Given the description of an element on the screen output the (x, y) to click on. 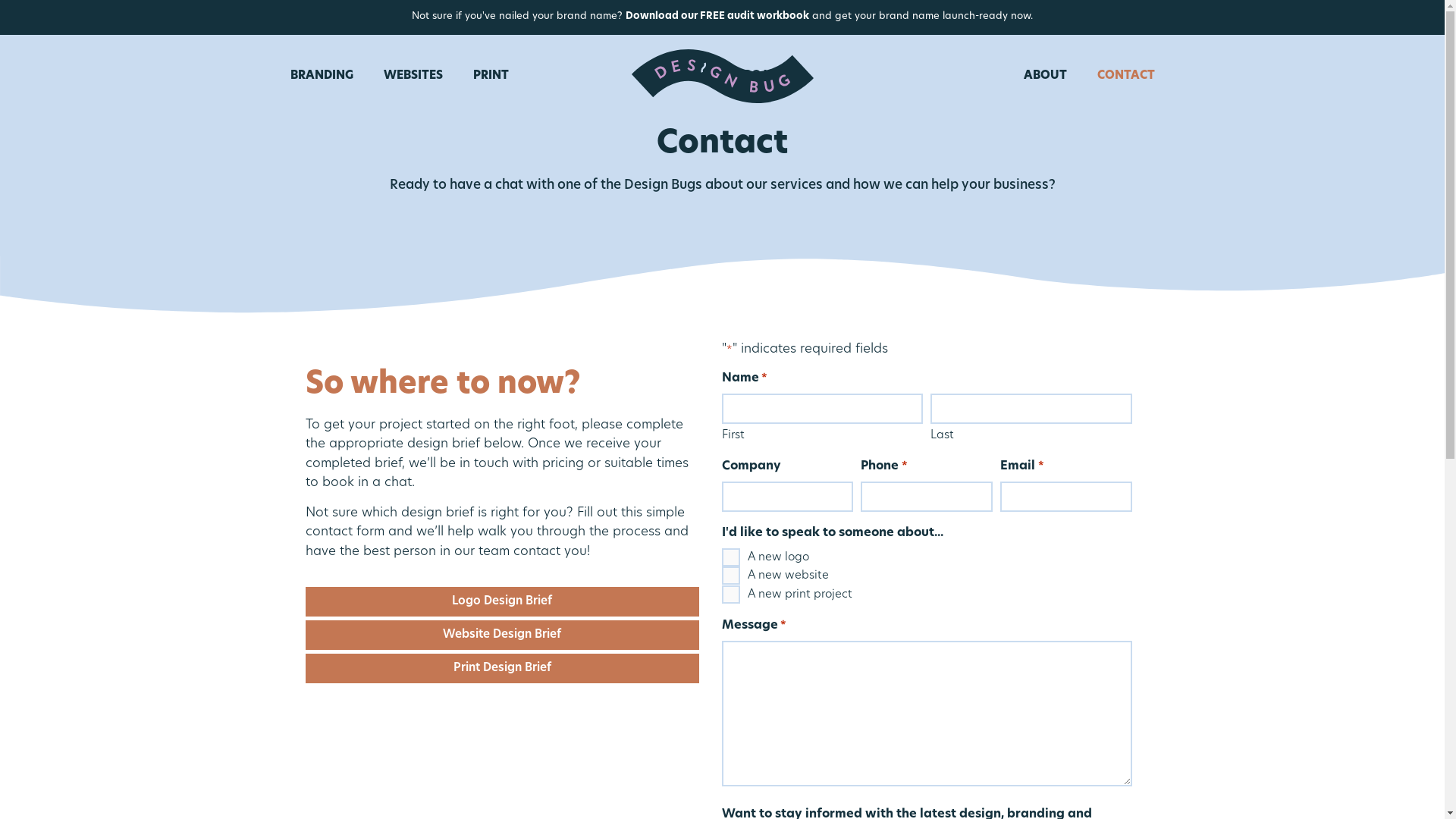
PROJECTS Element type: text (765, 76)
Website Design Brief Element type: text (501, 634)
Logo Design Brief Element type: text (501, 601)
WEBSITES Element type: text (413, 76)
CONTACT Element type: text (1125, 76)
Download our FREE audit workbook Element type: text (717, 16)
BRANDING Element type: text (320, 76)
Print Design Brief Element type: text (501, 668)
Design Bug Element type: hover (721, 75)
Design Bug Element type: hover (721, 75)
ABOUT Element type: text (1045, 76)
PRINT Element type: text (491, 76)
